Given the description of an element on the screen output the (x, y) to click on. 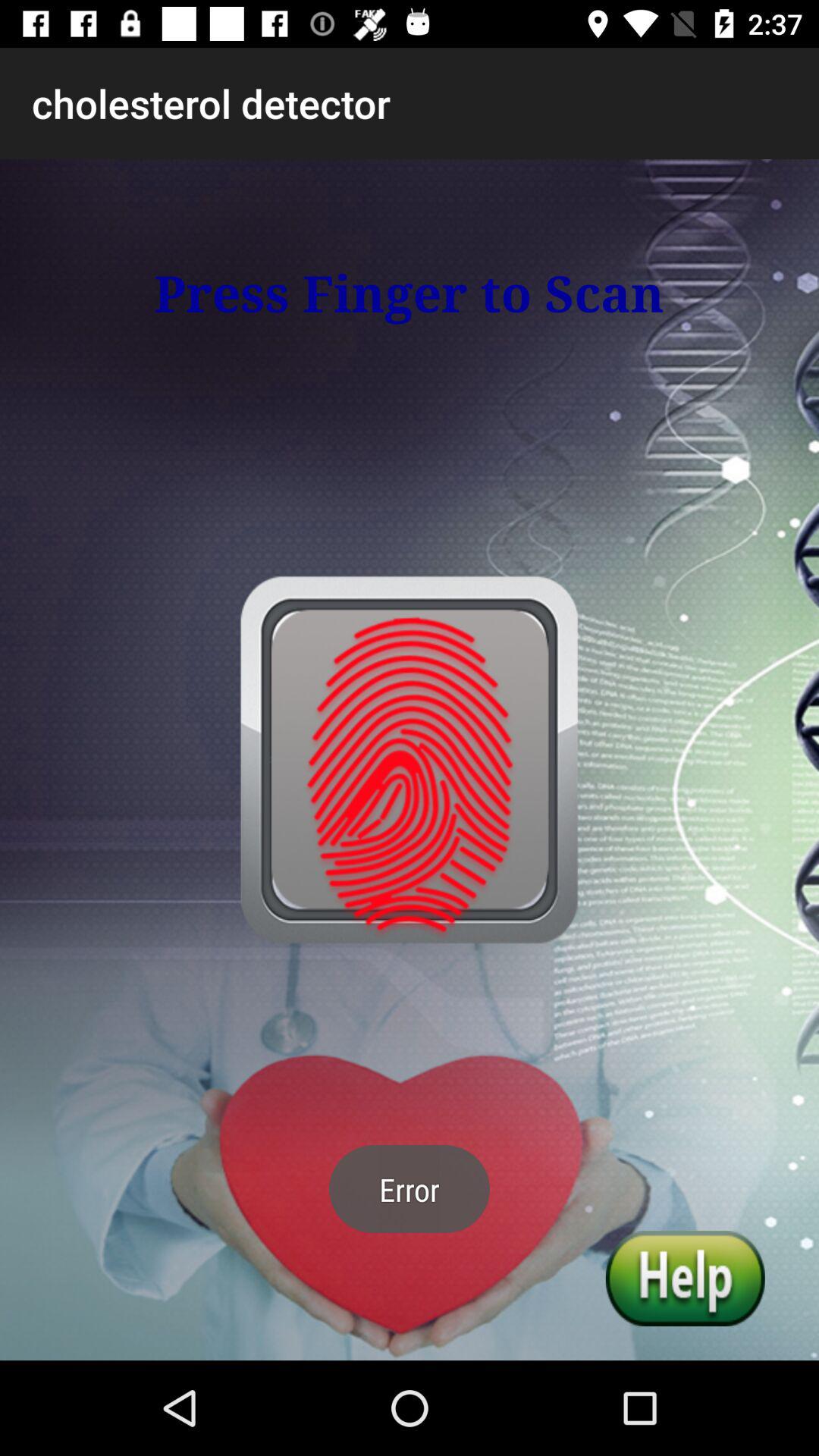
get help (684, 1278)
